Given the description of an element on the screen output the (x, y) to click on. 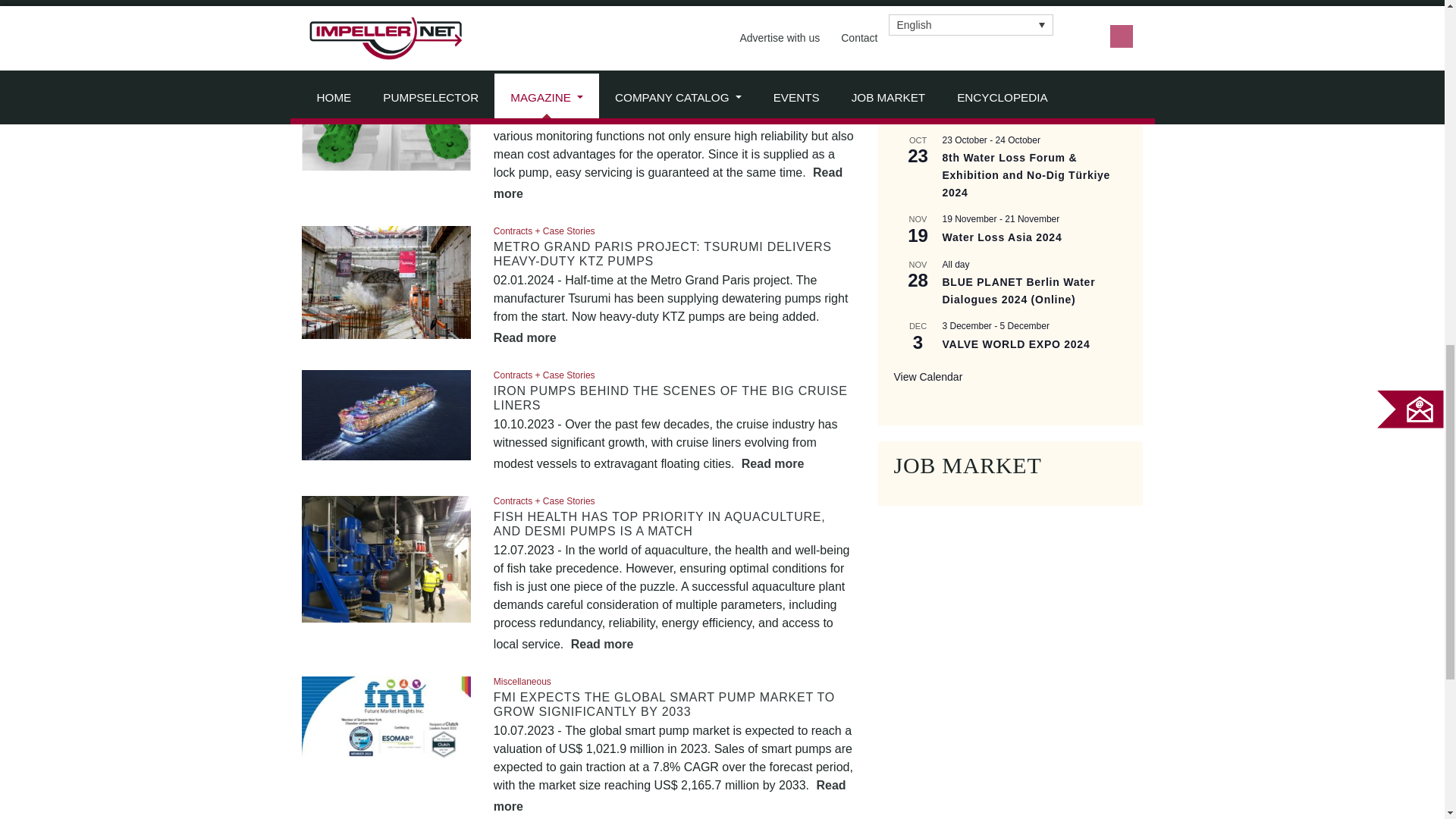
Water Loss Asia 2024 (1001, 237)
View more events. (927, 377)
VALVE WORLD EXPO 2024 (1015, 344)
